Given the description of an element on the screen output the (x, y) to click on. 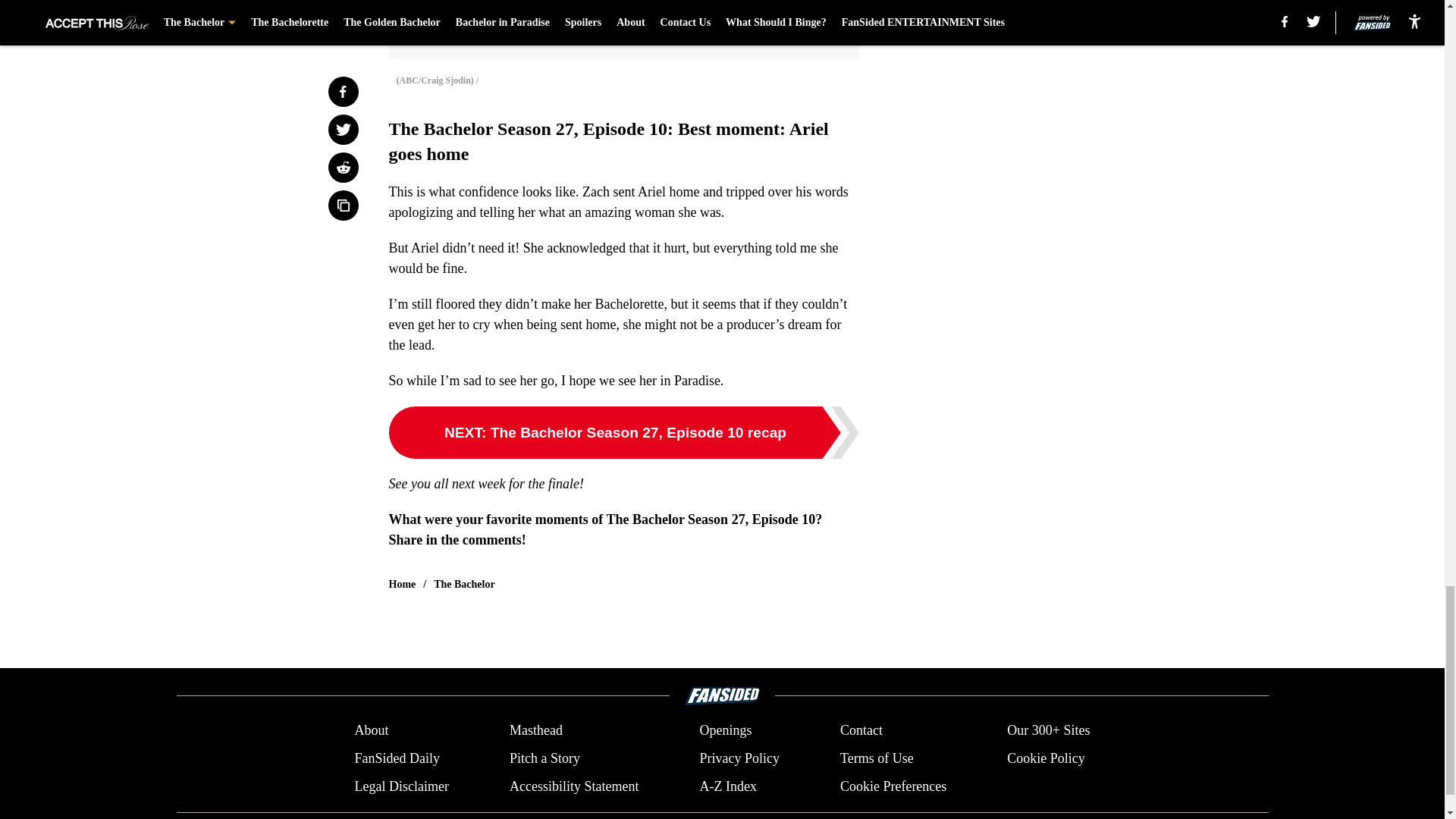
Accessibility Statement (574, 786)
A-Z Index (726, 786)
Contact (861, 730)
NEXT: The Bachelor Season 27, Episode 10 recap (623, 432)
Pitch a Story (544, 758)
Home (401, 584)
Legal Disclaimer (400, 786)
Openings (724, 730)
Cookie Policy (1045, 758)
Masthead (535, 730)
Privacy Policy (738, 758)
The Bachelor (464, 584)
Terms of Use (877, 758)
About (370, 730)
FanSided Daily (396, 758)
